Given the description of an element on the screen output the (x, y) to click on. 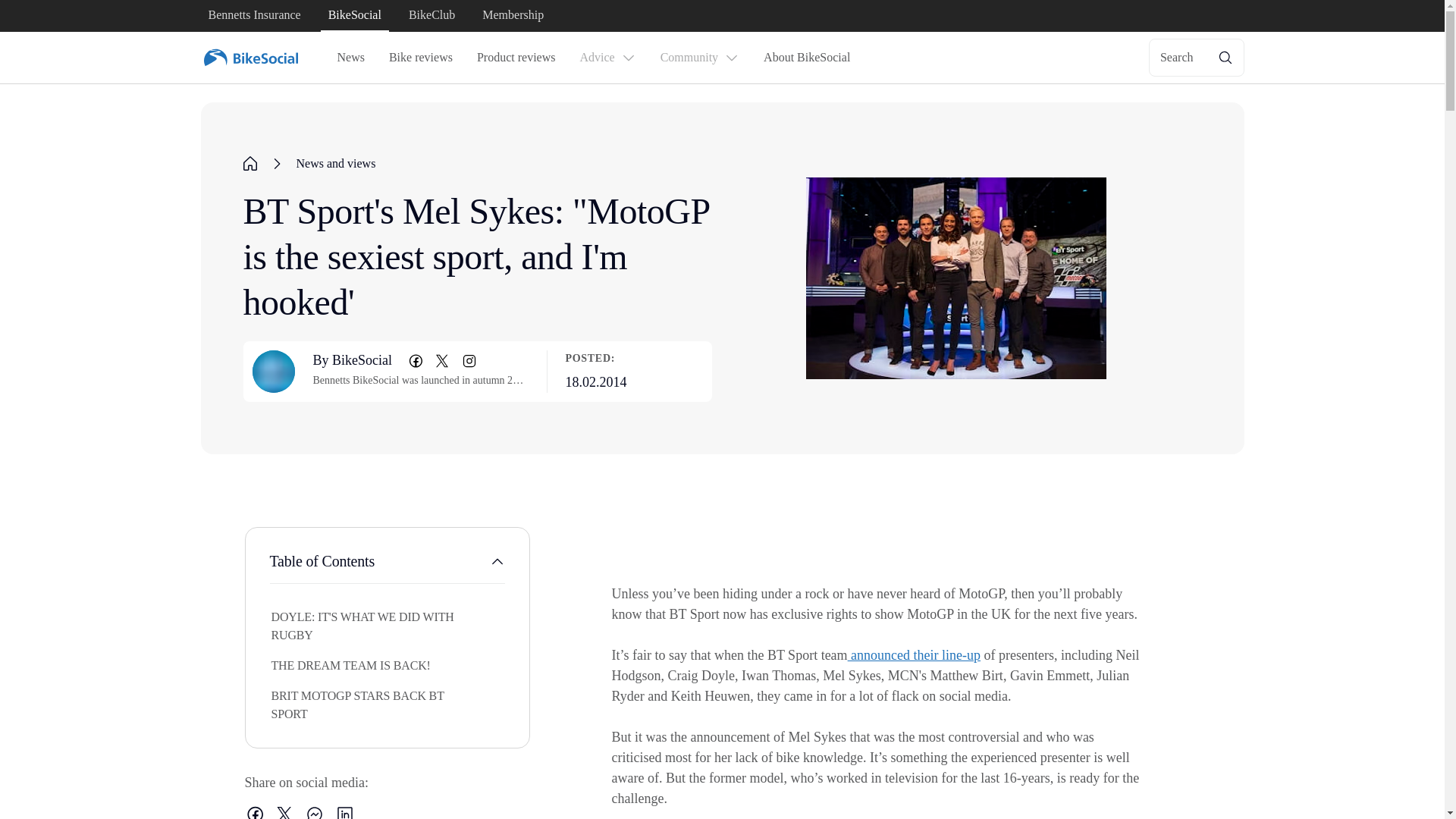
BikeClub (432, 15)
Bennetts Insurance (253, 15)
Bike reviews (420, 57)
Product reviews (515, 57)
BikeSocial (354, 15)
Advice (607, 57)
News and views (335, 163)
THE DREAM TEAM IS BACK! (355, 665)
Table of Contents (387, 567)
DOYLE: IT'S WHAT WE DID WITH RUGBY (355, 626)
Membership (512, 15)
Search (1196, 57)
BRIT MOTOGP STARS BACK BT SPORT (355, 705)
Community (699, 57)
